Given the description of an element on the screen output the (x, y) to click on. 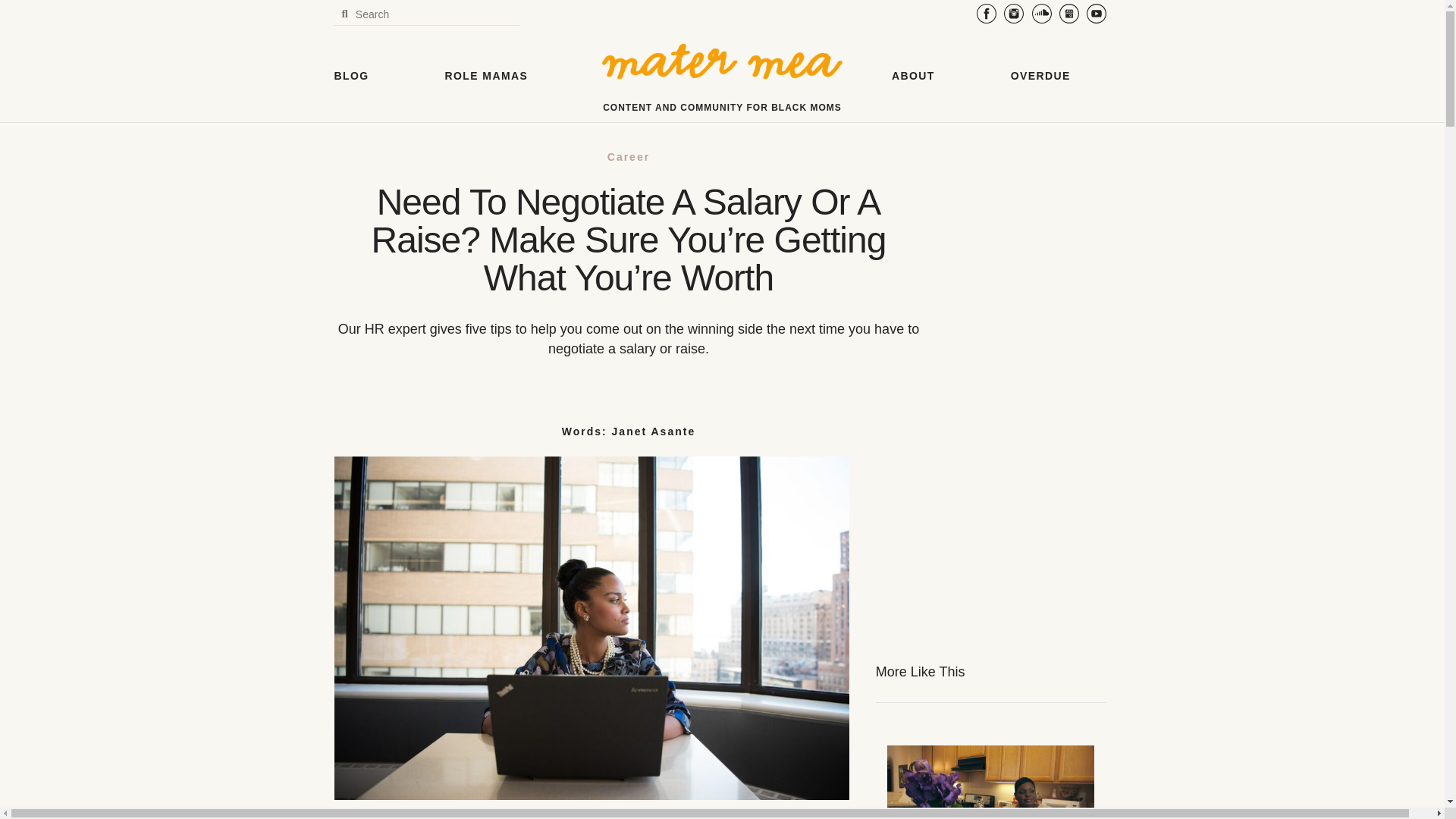
Words: Janet Asante (628, 431)
OVERDUE (1040, 75)
ABOUT (912, 75)
ROLE MAMAS (486, 75)
Career (628, 156)
BLOG (350, 75)
